Given the description of an element on the screen output the (x, y) to click on. 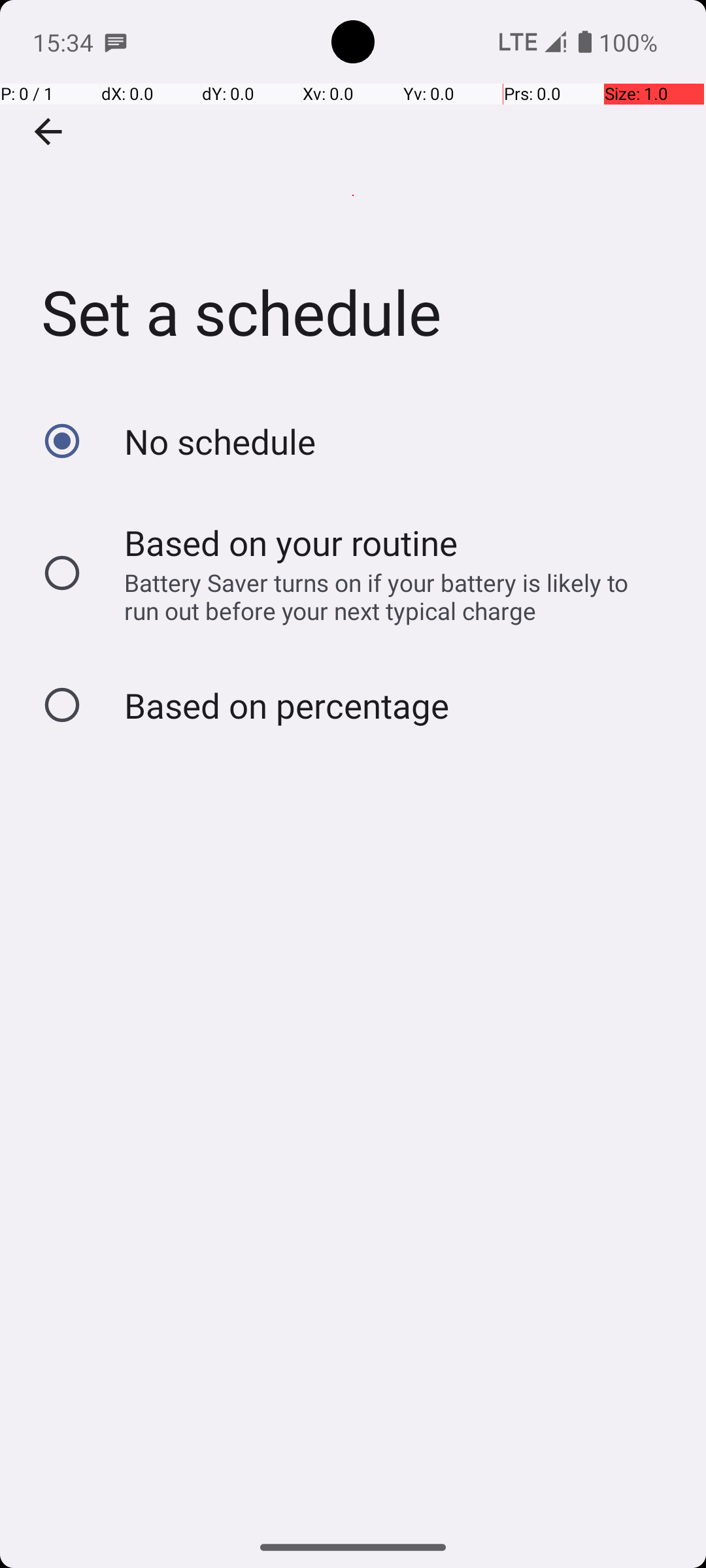
Set a schedule Element type: android.widget.FrameLayout (353, 195)
No schedule Element type: android.widget.TextView (219, 441)
Based on your routine Element type: android.widget.TextView (291, 542)
Battery Saver turns on if your battery is likely to run out before your next typical charge Element type: android.widget.TextView (387, 596)
Based on percentage Element type: android.widget.TextView (286, 705)
